Given the description of an element on the screen output the (x, y) to click on. 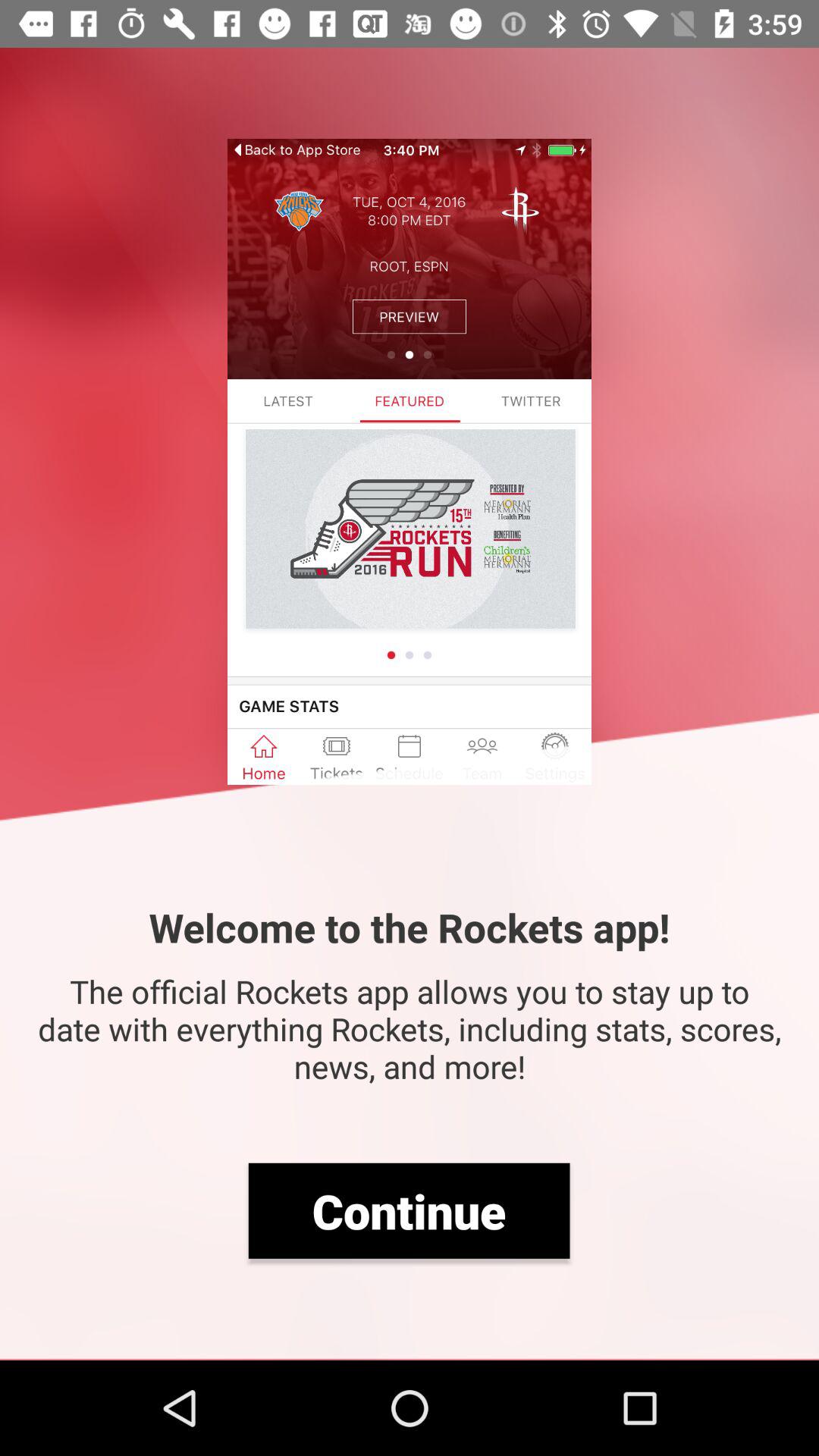
launch the continue icon (408, 1210)
